Given the description of an element on the screen output the (x, y) to click on. 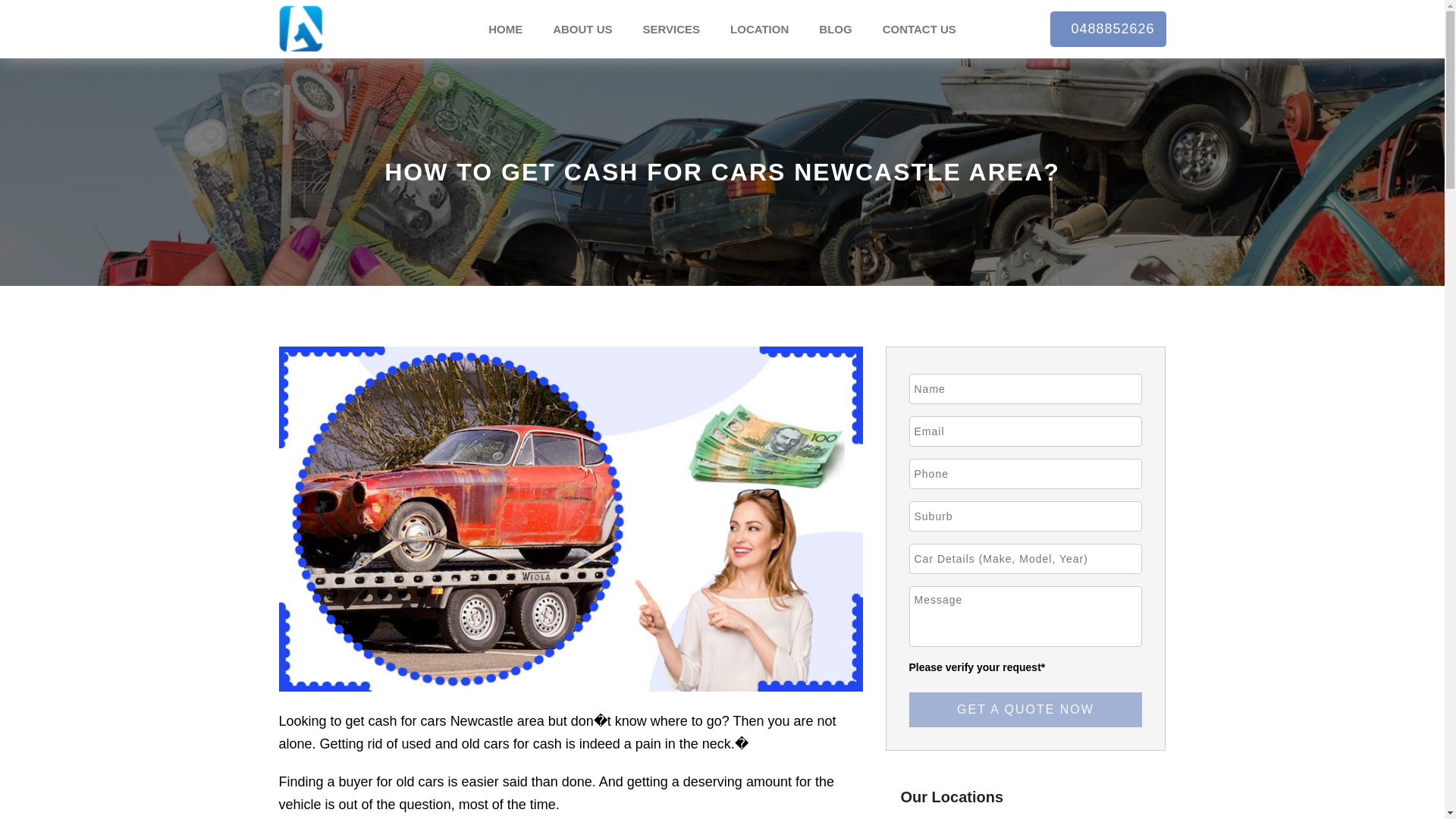
CONTACT US (919, 29)
SERVICES (670, 29)
ABOUT US (582, 29)
HOME (505, 29)
BLOG (834, 29)
LOCATION (758, 29)
0488852626 (1107, 28)
0488852626 (1107, 28)
